Given the description of an element on the screen output the (x, y) to click on. 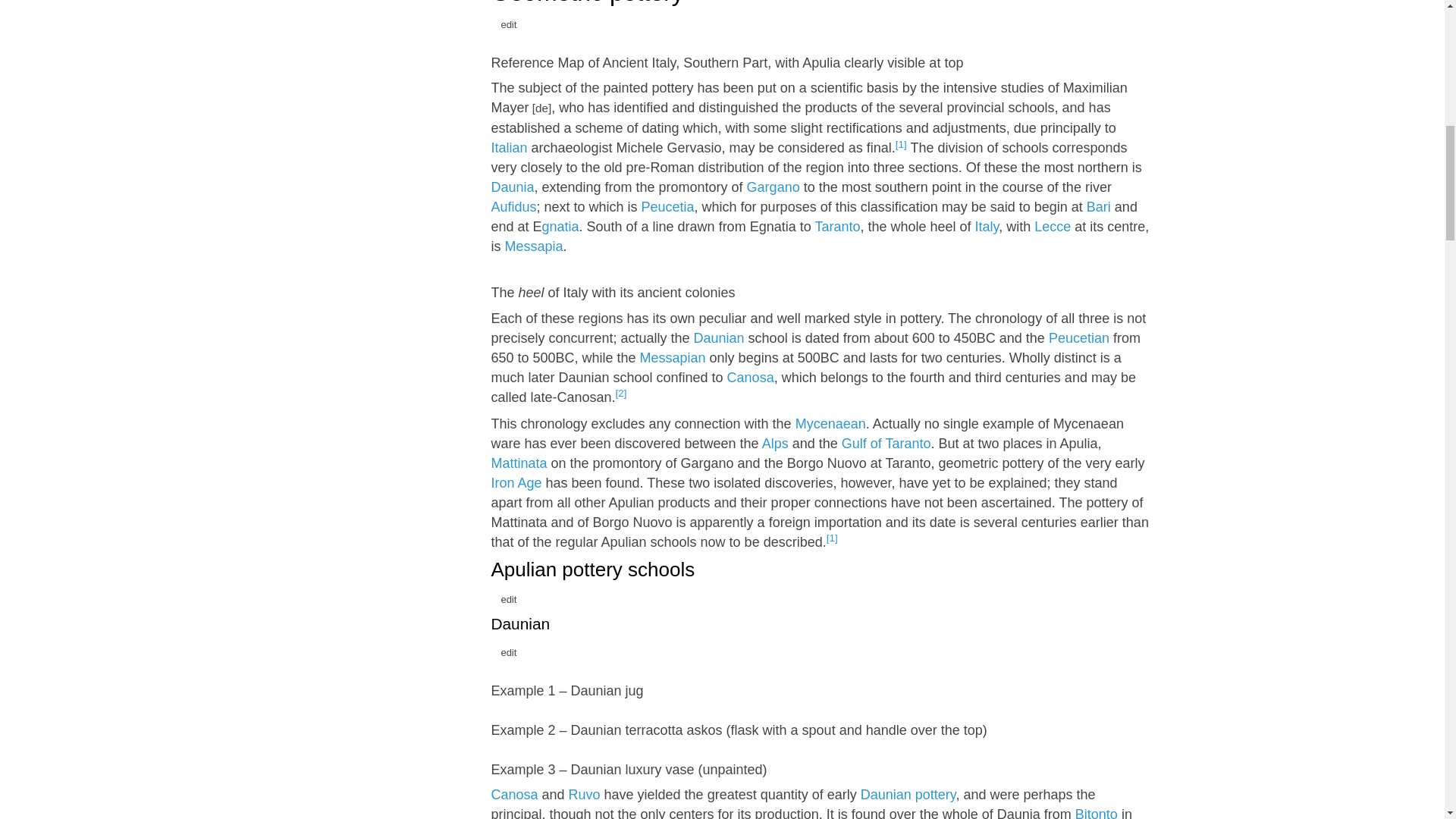
Daunians (512, 186)
Aufidus (512, 206)
Italy (508, 147)
Gargano (772, 186)
